Given the description of an element on the screen output the (x, y) to click on. 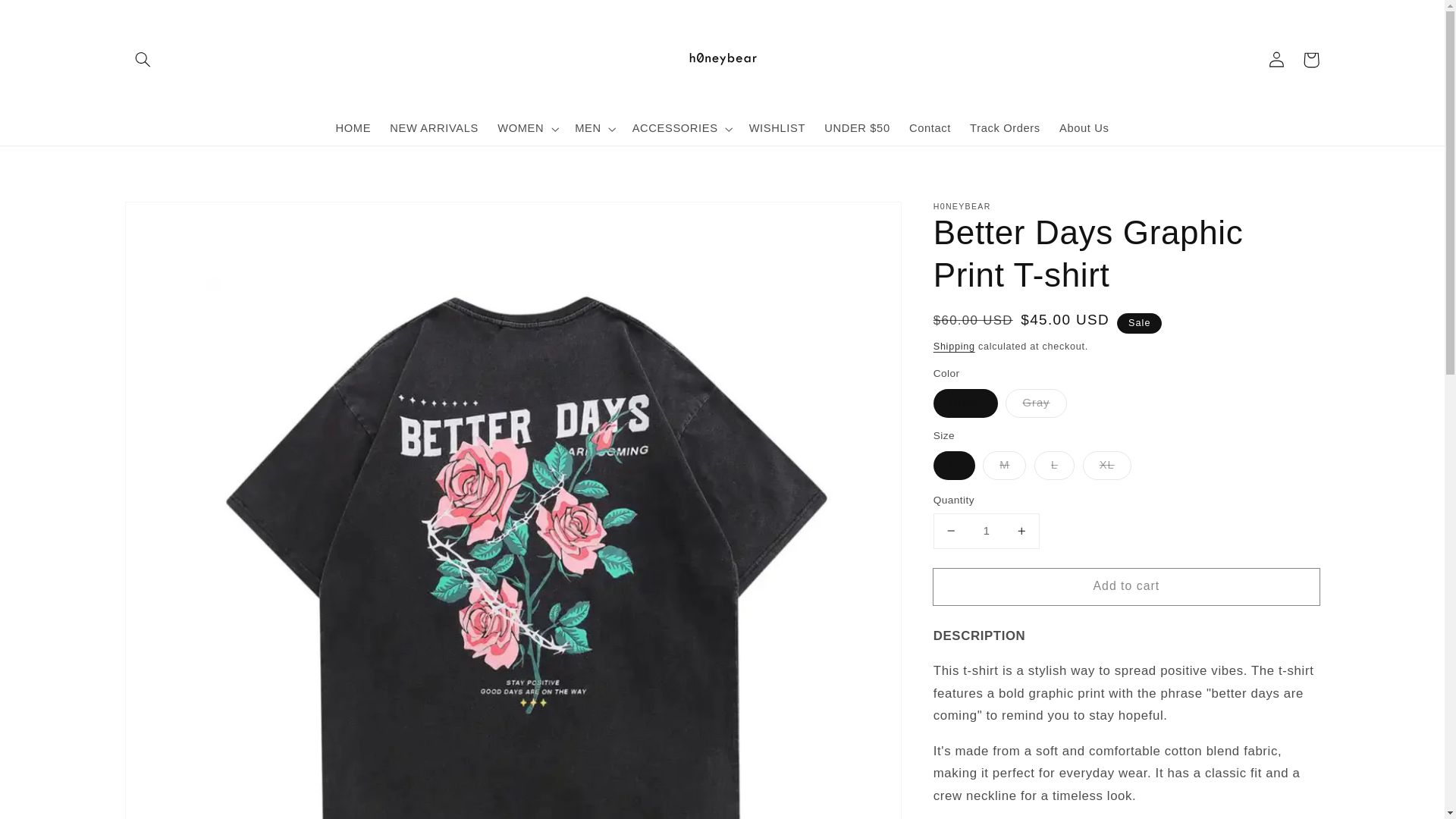
Skip to content (47, 17)
1 (986, 530)
